Given the description of an element on the screen output the (x, y) to click on. 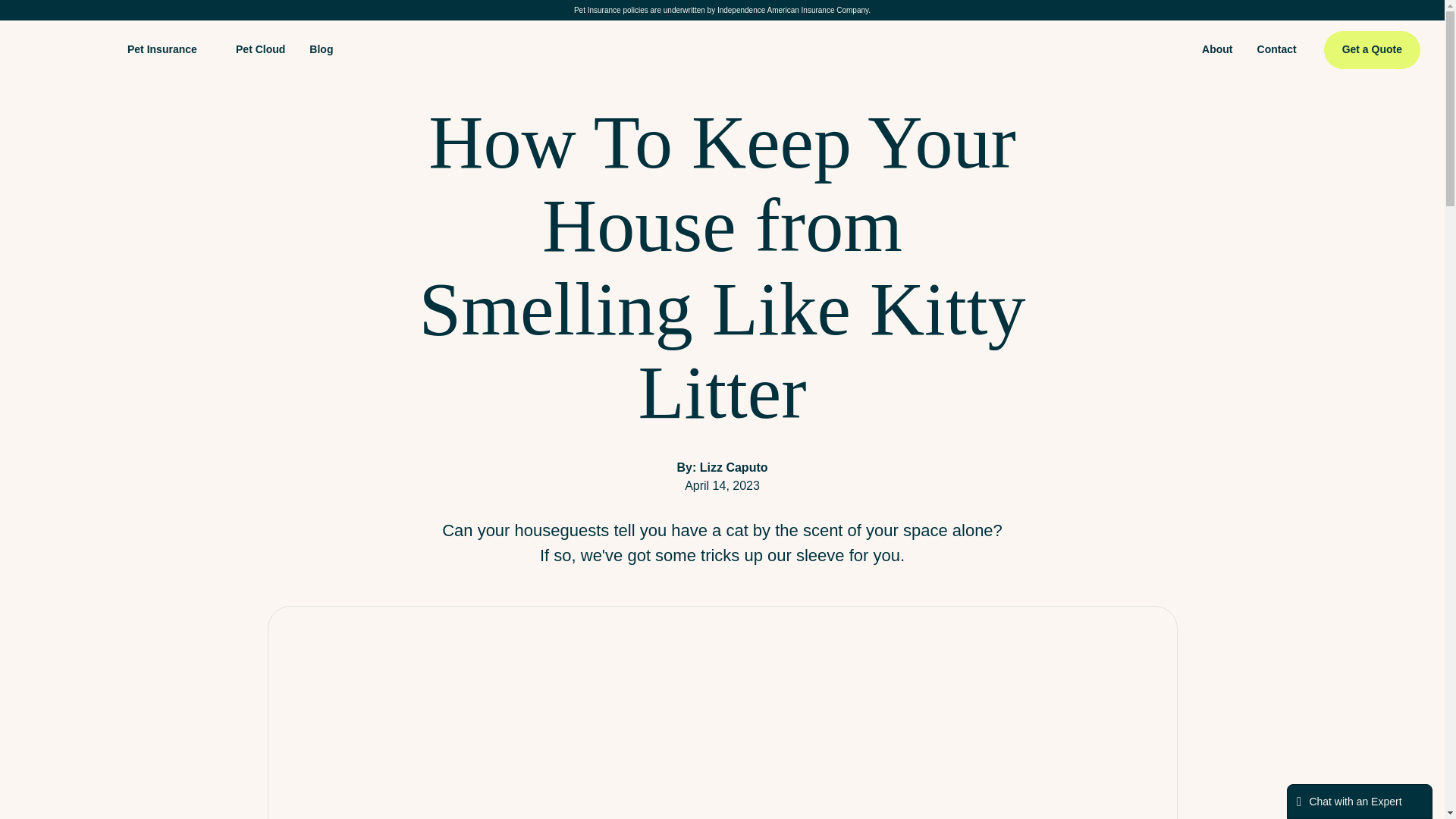
About (1216, 49)
Pet Insurance (162, 52)
Contact (1276, 49)
Blog (321, 49)
Pet Cloud (260, 49)
Get a Quote (1372, 48)
